Given the description of an element on the screen output the (x, y) to click on. 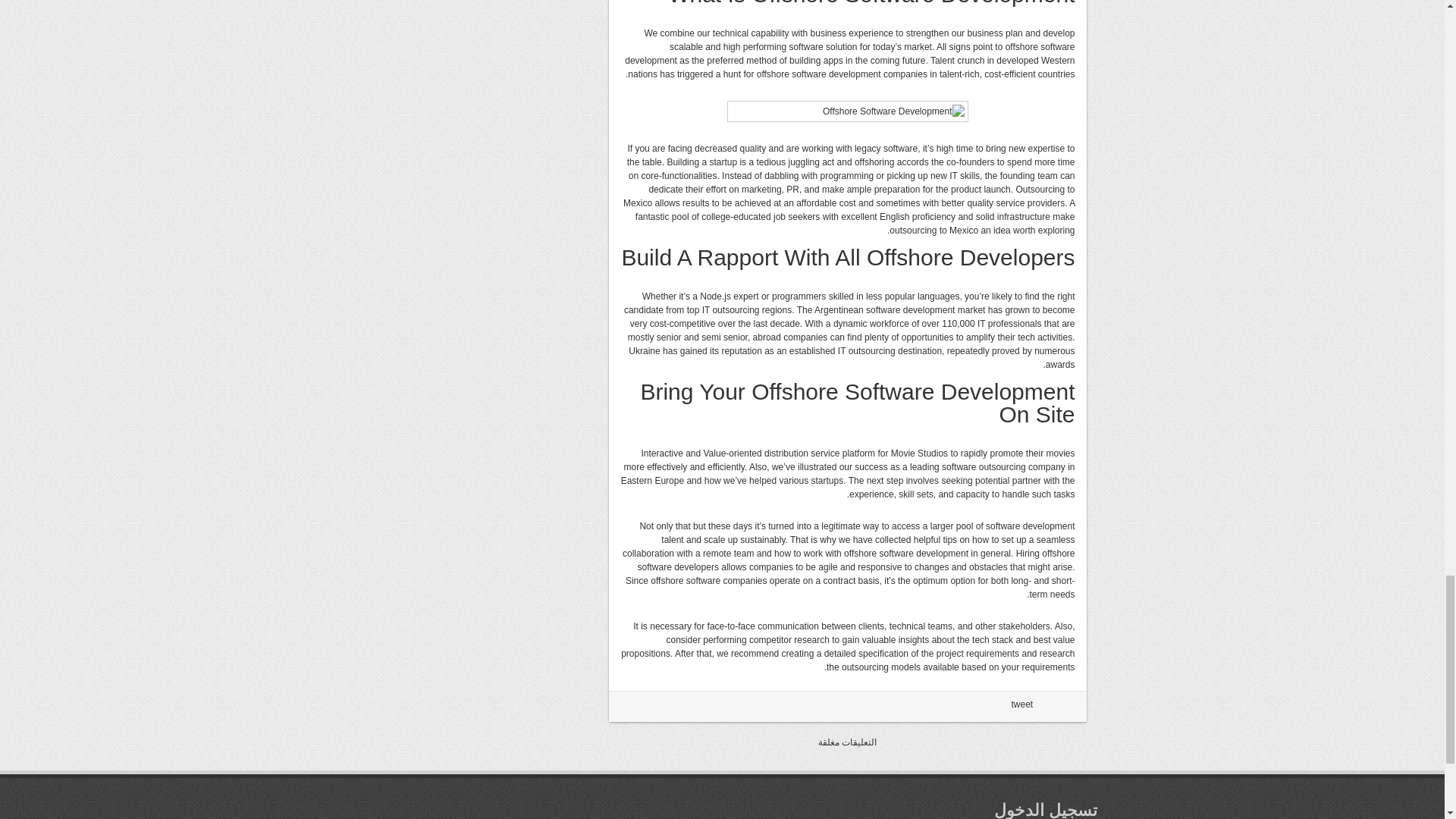
tweet (1022, 704)
